Given the description of an element on the screen output the (x, y) to click on. 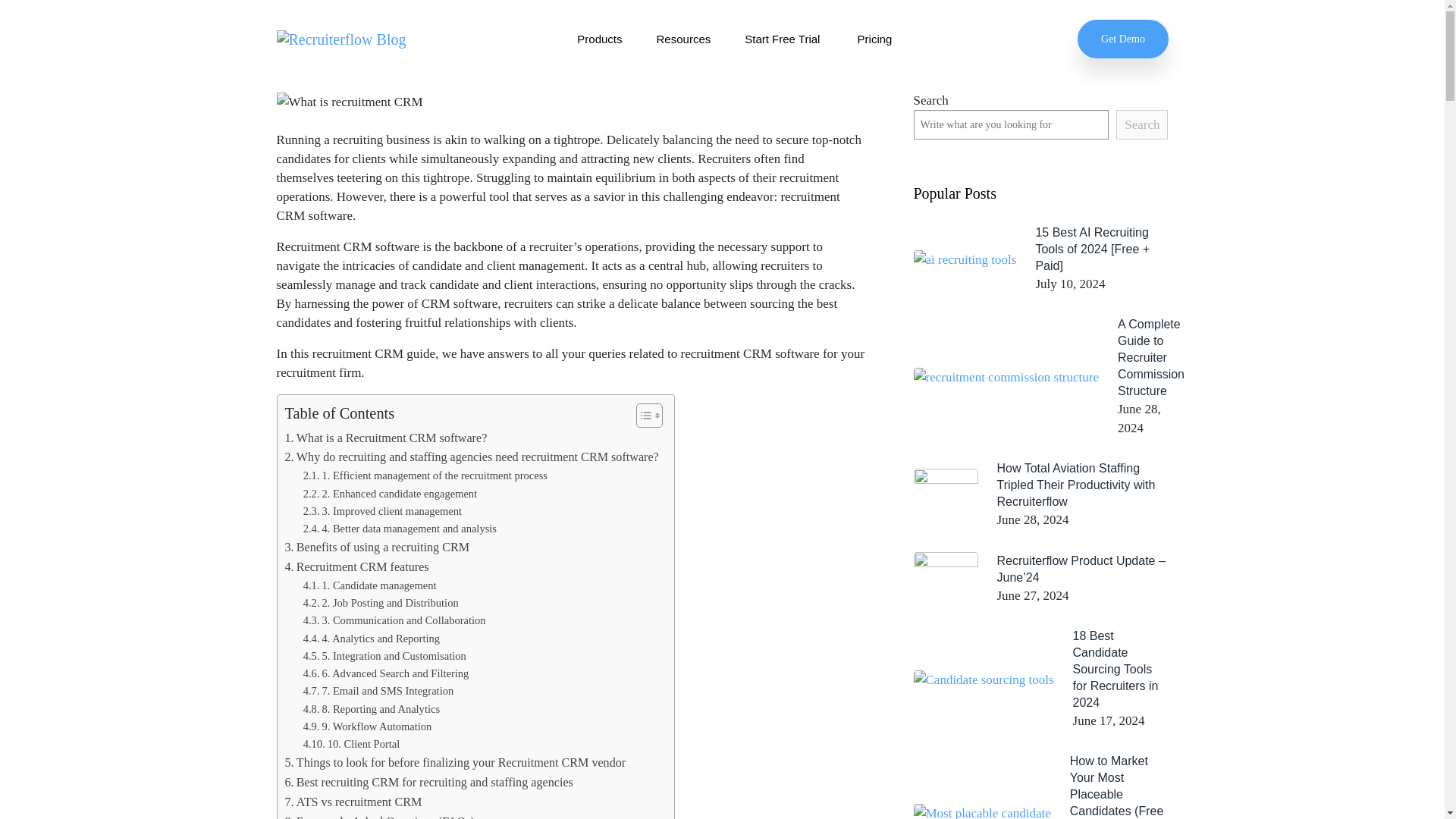
1. Candidate management (369, 585)
Get Demo (1122, 38)
3. Communication and Collaboration (394, 620)
8. Reporting and Analytics (370, 709)
3. Improved client management (381, 511)
Benefits of using a recruiting CRM (377, 547)
Products (598, 38)
What is a Recruitment CRM software? (386, 437)
2. Job Posting and Distribution (380, 602)
Pricing  (876, 38)
7. Email and SMS Integration (377, 691)
4. Better data management and analysis (399, 528)
2. Enhanced candidate engagement (389, 493)
